Given the description of an element on the screen output the (x, y) to click on. 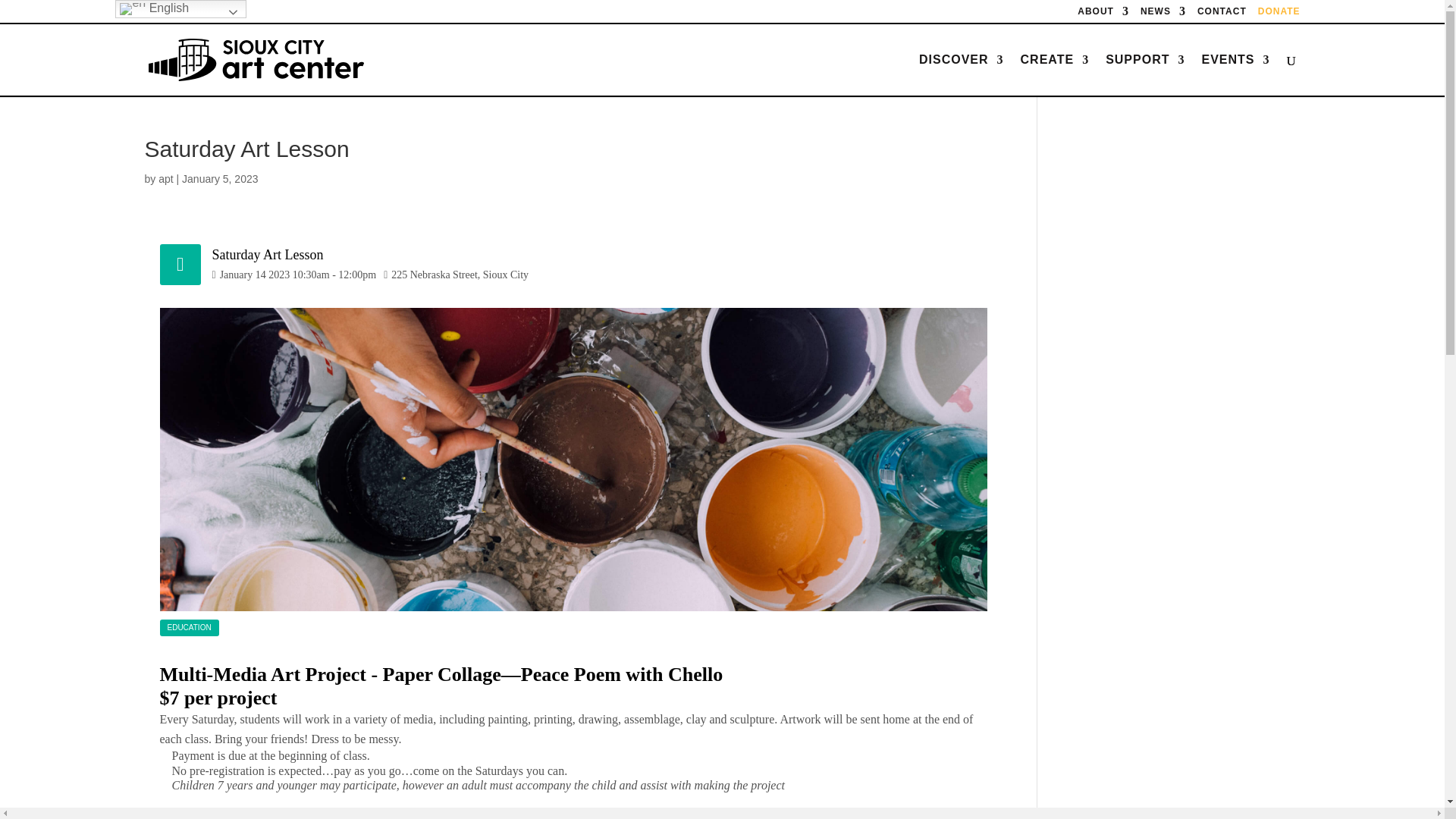
DONATE (1278, 14)
CREATE (1054, 74)
CONTACT (1221, 14)
NEWS (1163, 14)
DISCOVER (961, 74)
Posts by apt (165, 178)
ABOUT (1103, 14)
